Given the description of an element on the screen output the (x, y) to click on. 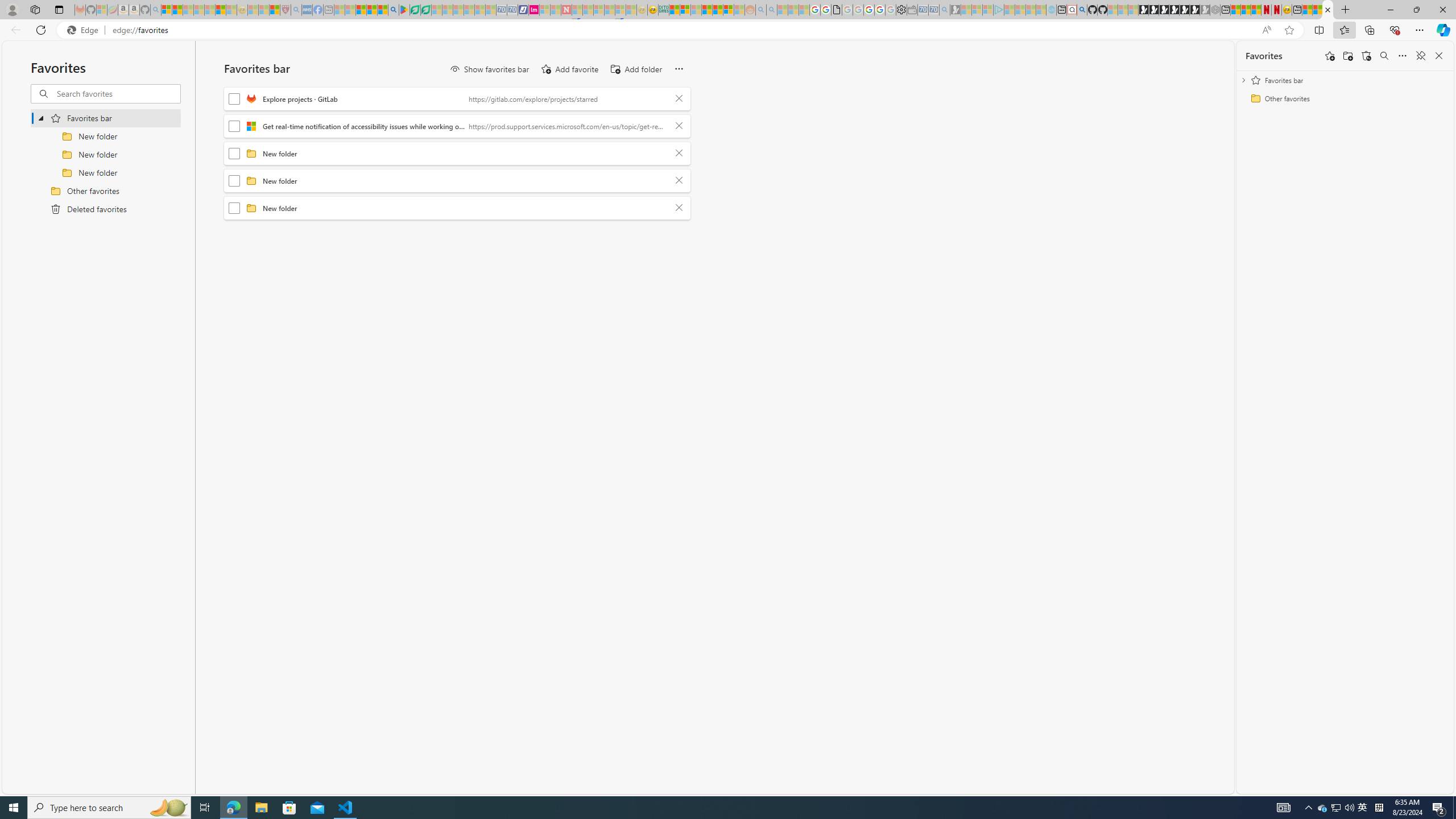
Microsoft Word - consumer-privacy address update 2.2021 (426, 9)
Local - MSN (274, 9)
Bing Real Estate - Home sales and rental listings - Sleeping (944, 9)
Bluey: Let's Play! - Apps on Google Play (404, 9)
Recipes - MSN - Sleeping (253, 9)
14 Common Myths Debunked By Scientific Facts - Sleeping (588, 9)
